Given the description of an element on the screen output the (x, y) to click on. 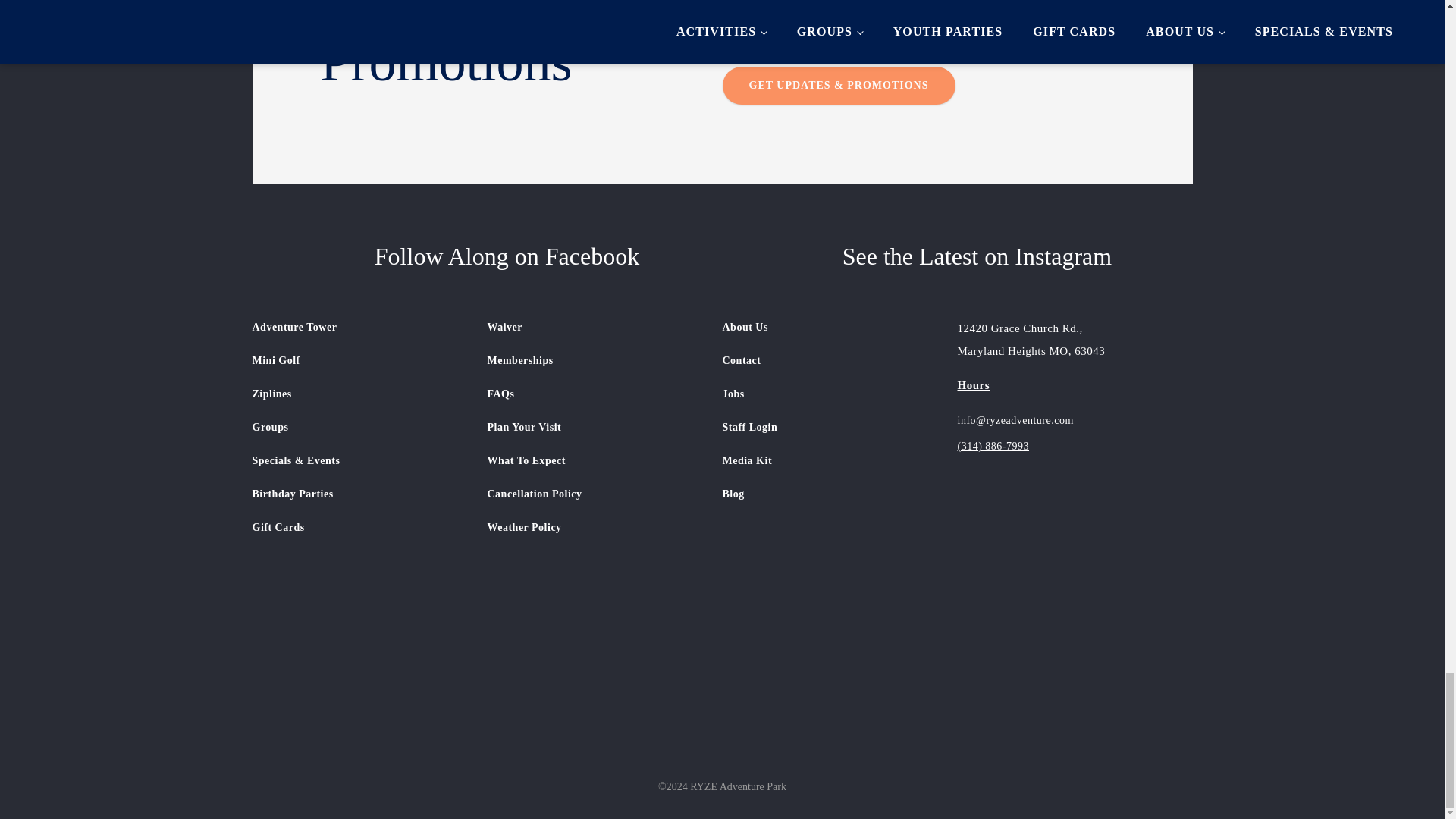
Follow Along on Facebook (486, 255)
Mini Golf (295, 366)
Adventure Tower (295, 332)
Ziplines (295, 399)
See the Latest on Instagram (956, 255)
Groups (295, 432)
